Given the description of an element on the screen output the (x, y) to click on. 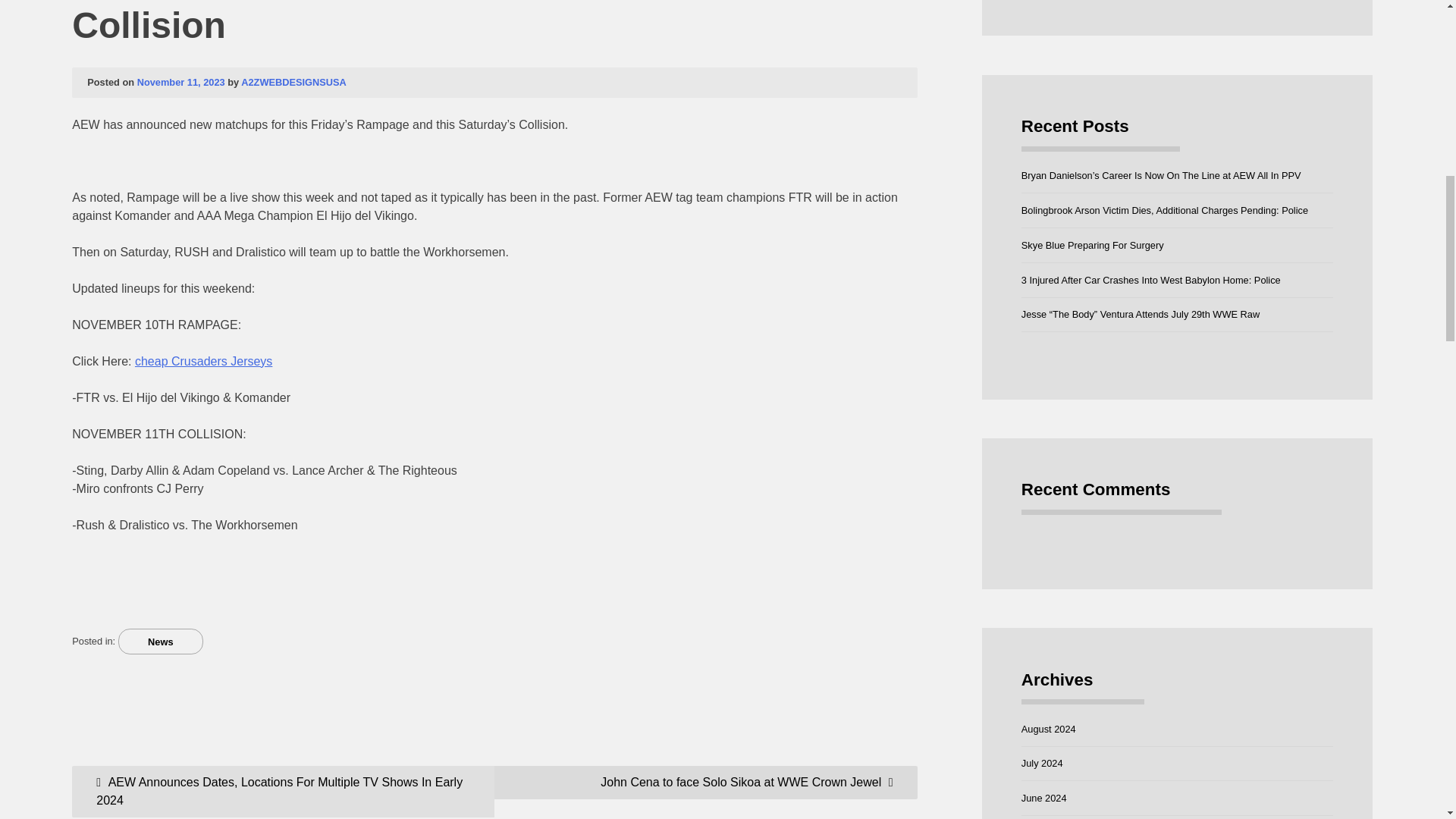
John Cena to face Solo Sikoa at WWE Crown Jewel (706, 781)
June 2024 (1044, 797)
cheap Crusaders Jerseys (203, 360)
cheap Crusaders Jerseys (203, 360)
3 Injured After Car Crashes Into West Babylon Home: Police (1151, 279)
November 11, 2023 (180, 81)
July 2024 (1042, 763)
News (160, 641)
A2ZWEBDESIGNSUSA (293, 81)
